Given the description of an element on the screen output the (x, y) to click on. 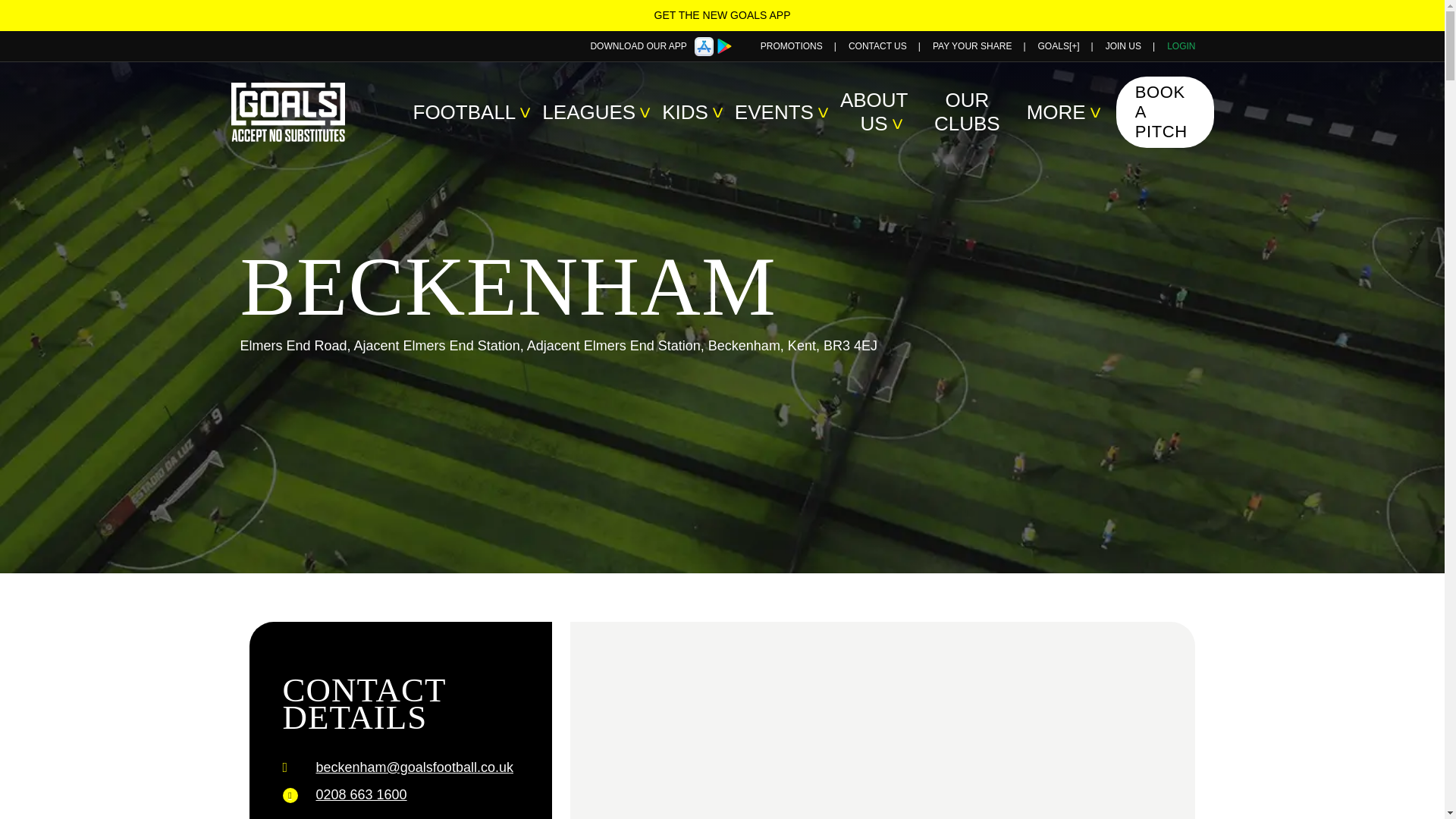
GET THE NEW GOALS APP (721, 15)
CONTACT US (877, 45)
Download on the PlayStore (724, 46)
LOGIN (1181, 45)
PAY YOUR SHARE (972, 45)
JOIN US (1123, 45)
Download on the AppStore (703, 46)
PROMOTIONS (791, 45)
Goals (305, 111)
DOWNLOAD OUR APP (637, 45)
GET THE NEW GOALS APP (721, 15)
